Given the description of an element on the screen output the (x, y) to click on. 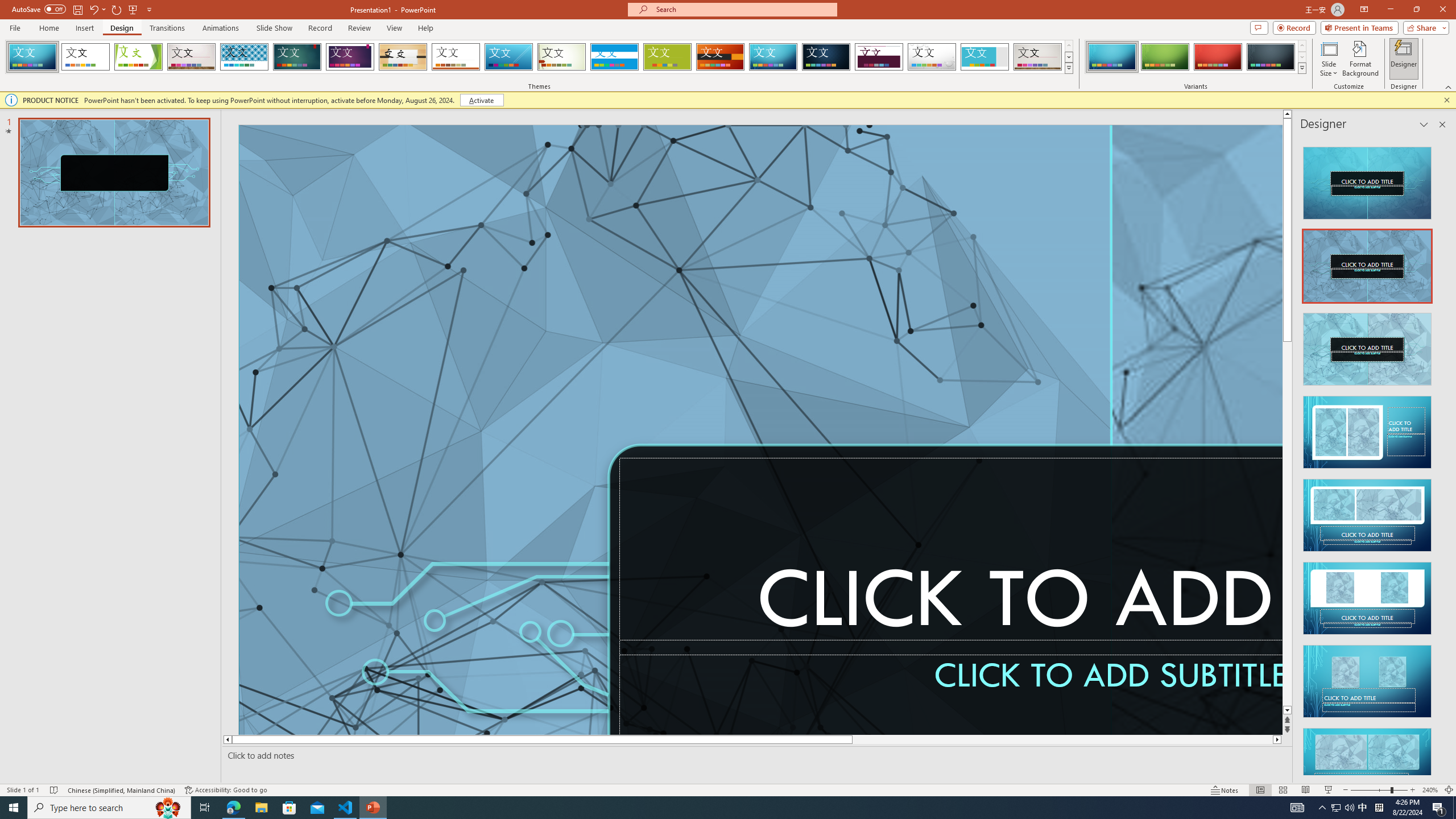
Wisp (561, 56)
Close this message (1446, 99)
Circuit Variant 2 (1164, 56)
Ion (296, 56)
